Given the description of an element on the screen output the (x, y) to click on. 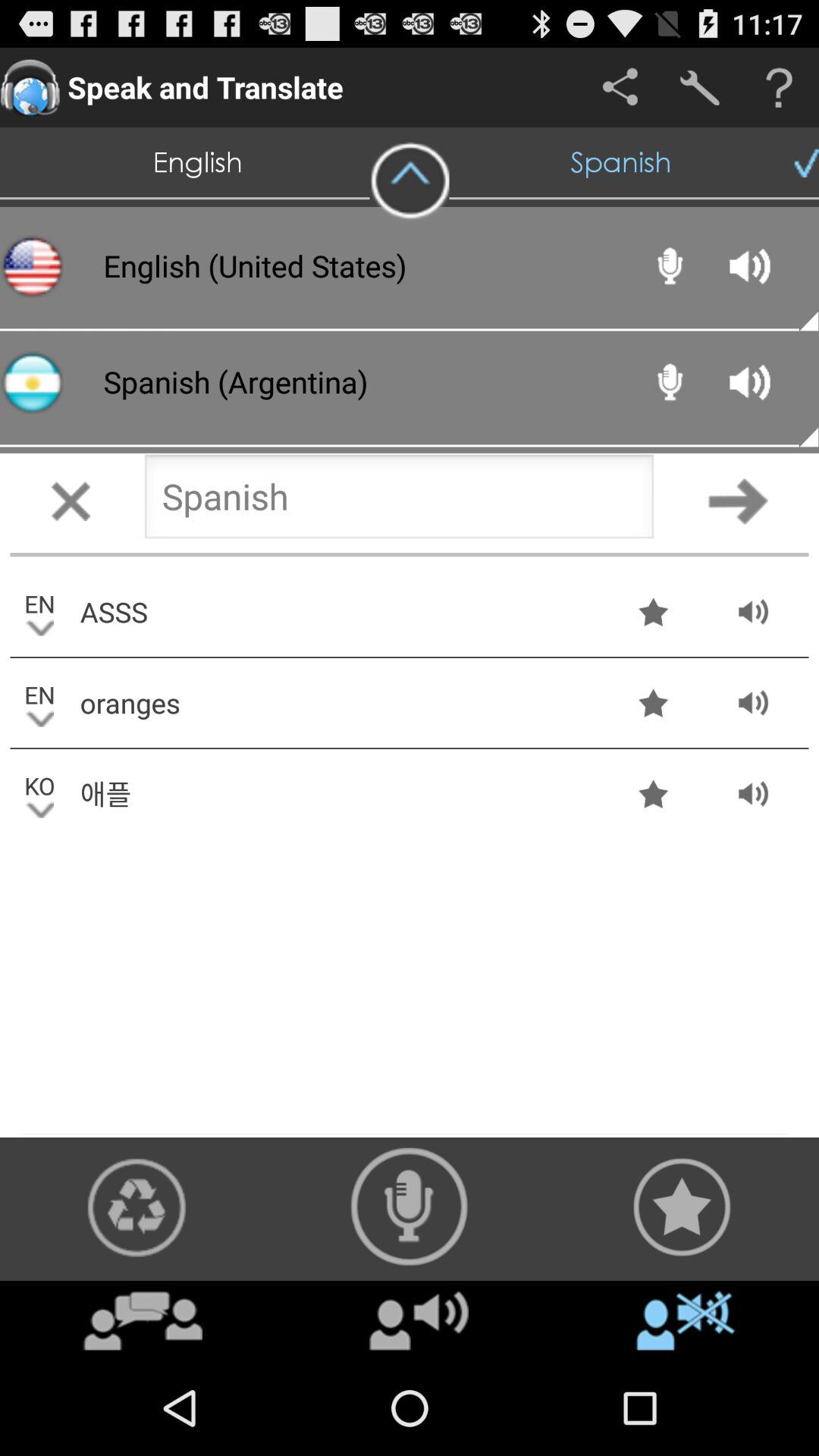
close (70, 500)
